Given the description of an element on the screen output the (x, y) to click on. 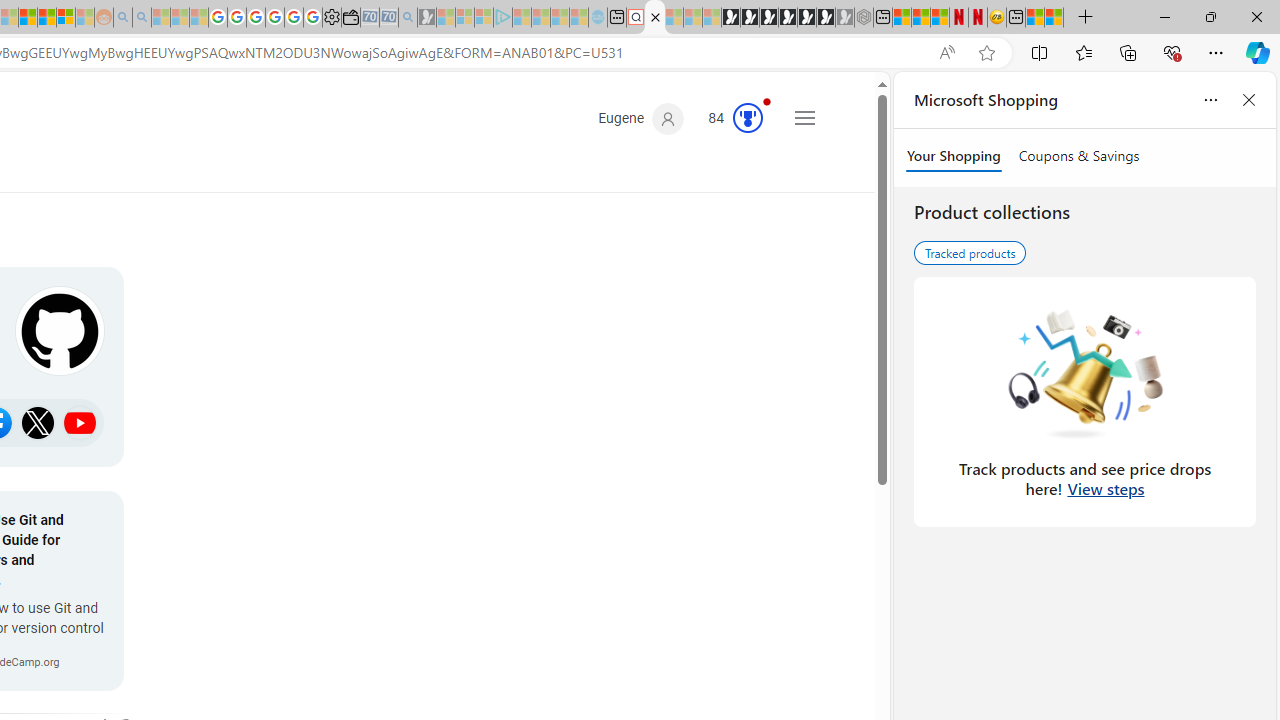
Class: b_sitlk (80, 422)
